Given the description of an element on the screen output the (x, y) to click on. 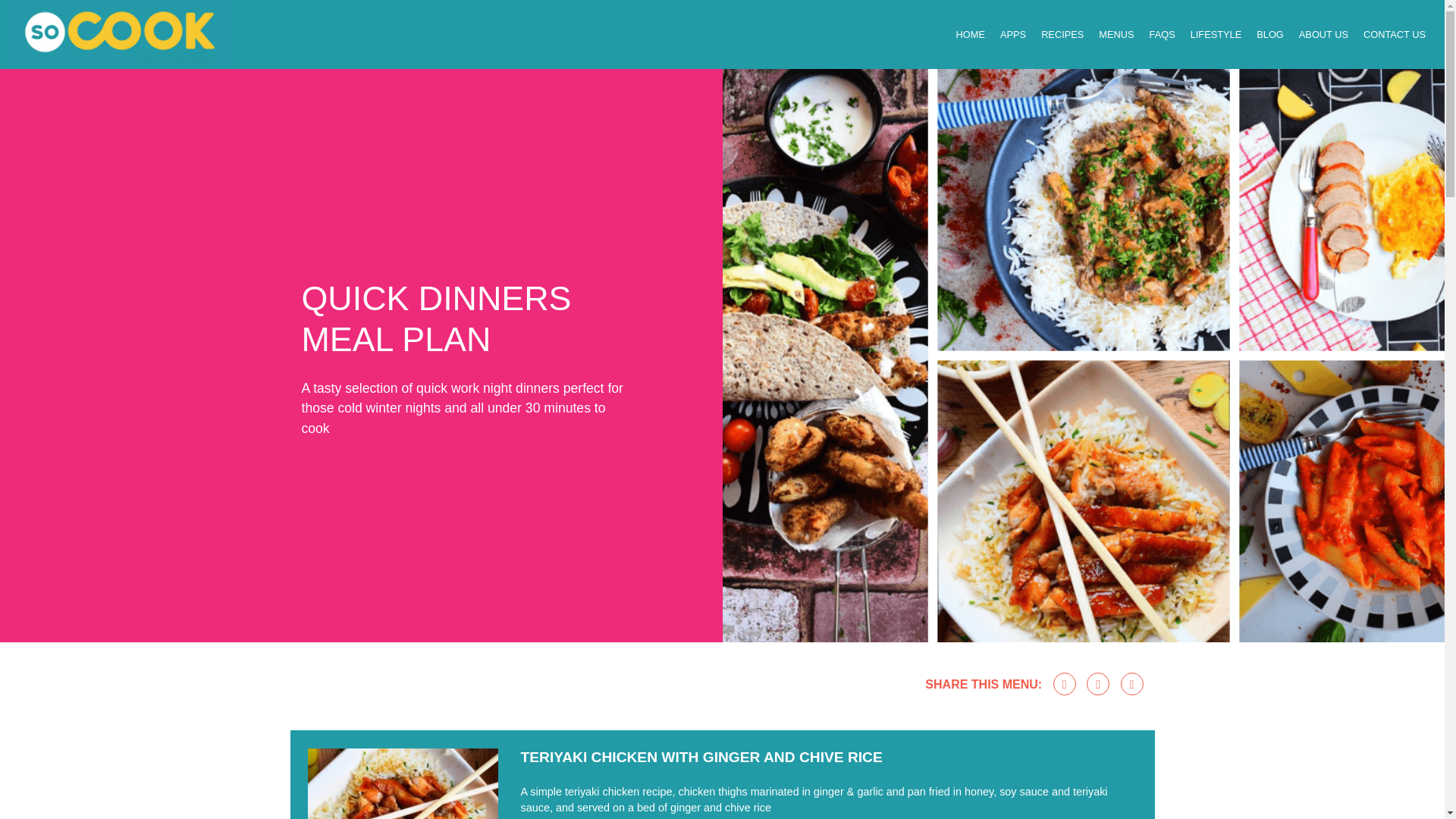
About Us (1323, 34)
Contact Us (1393, 34)
MENUS (1115, 34)
Menus (1115, 34)
RECIPES (1061, 34)
Recipes (1061, 34)
LIFESTYLE (1215, 34)
